Given the description of an element on the screen output the (x, y) to click on. 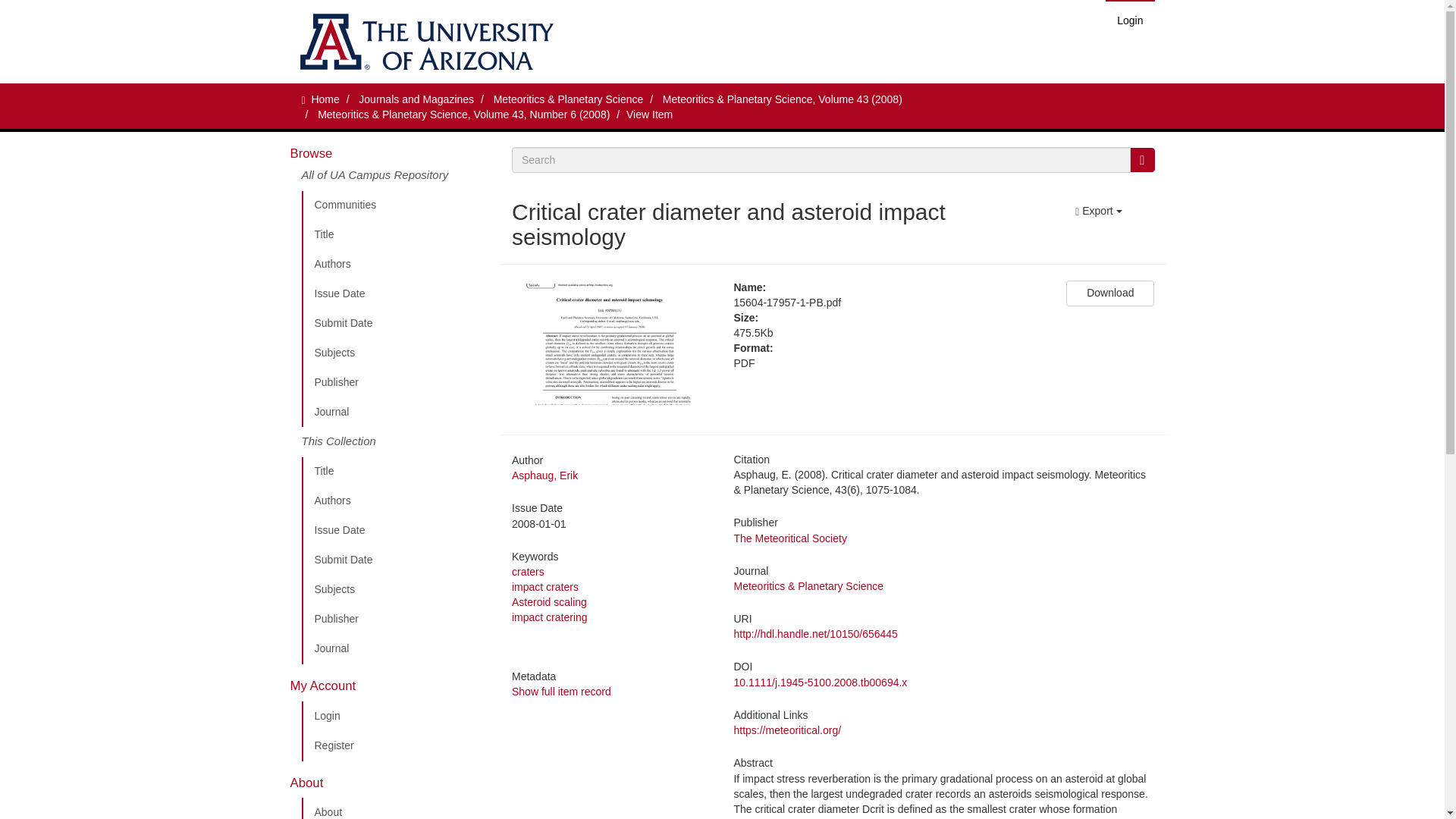
Subjects (395, 353)
Title (395, 471)
Title (395, 235)
Journals and Magazines (416, 99)
Login (395, 716)
Authors (395, 501)
Journal (395, 412)
All of UA Campus Repository (395, 179)
Issue Date (395, 294)
Journal (395, 648)
